Given the description of an element on the screen output the (x, y) to click on. 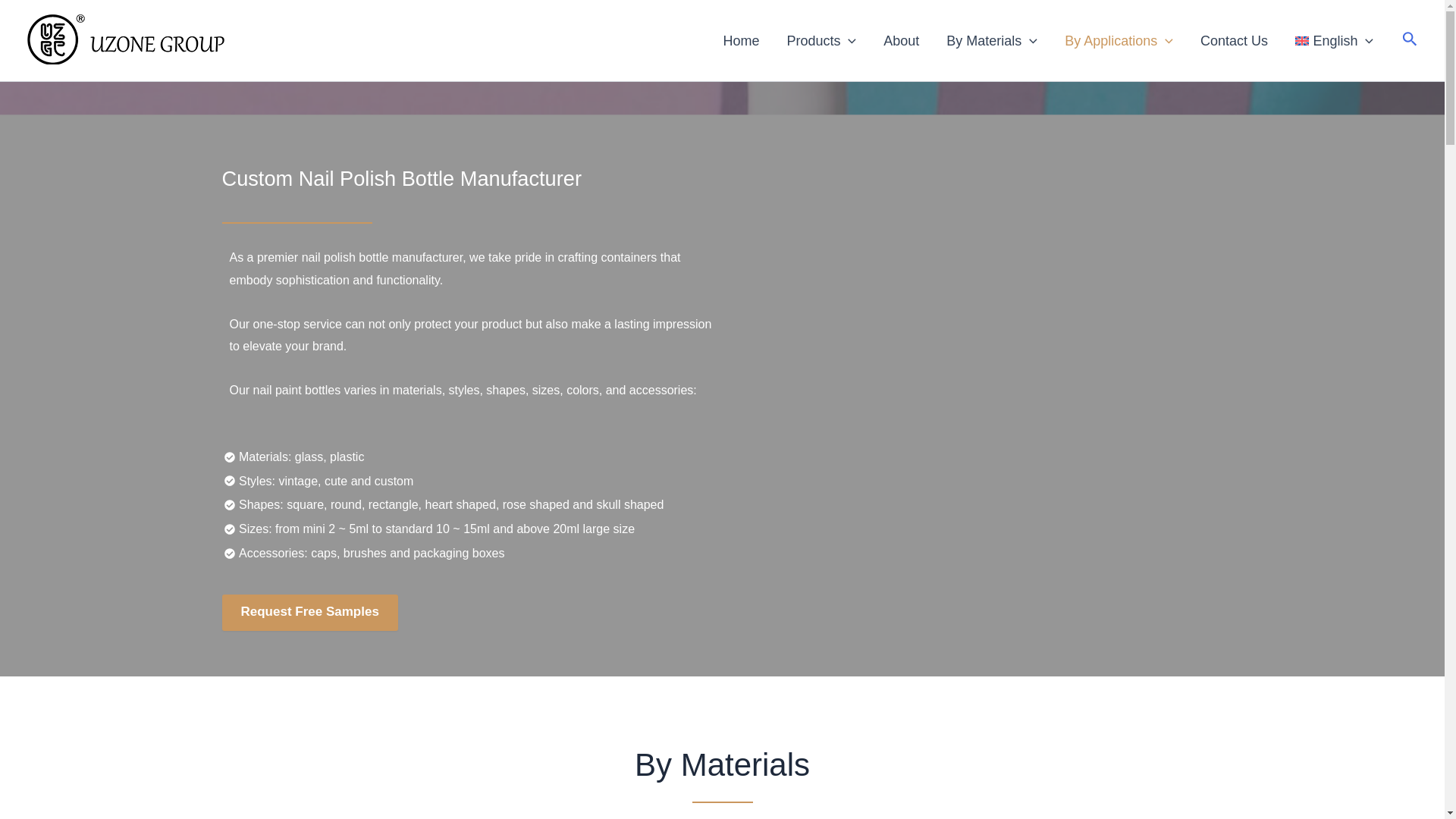
English (1334, 40)
English (1334, 40)
By Materials (992, 40)
Contact Us (1233, 40)
By Applications (1118, 40)
Products (821, 40)
